Given the description of an element on the screen output the (x, y) to click on. 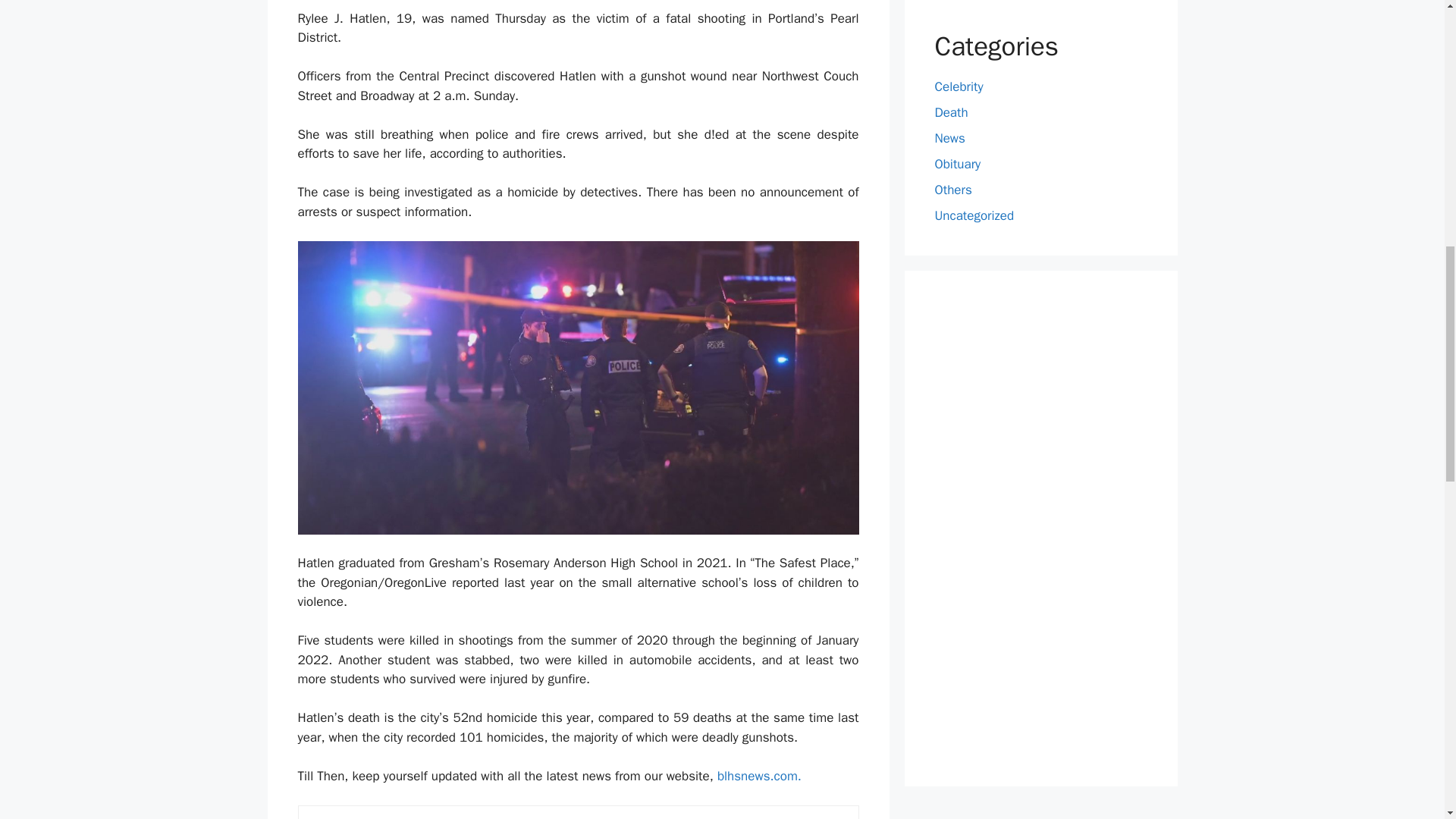
Others (952, 189)
Celebrity (958, 86)
Uncategorized (973, 215)
blhsnews.com. (759, 775)
Scroll back to top (1406, 727)
News (948, 138)
Death (951, 112)
Obituary (956, 163)
